Given the description of an element on the screen output the (x, y) to click on. 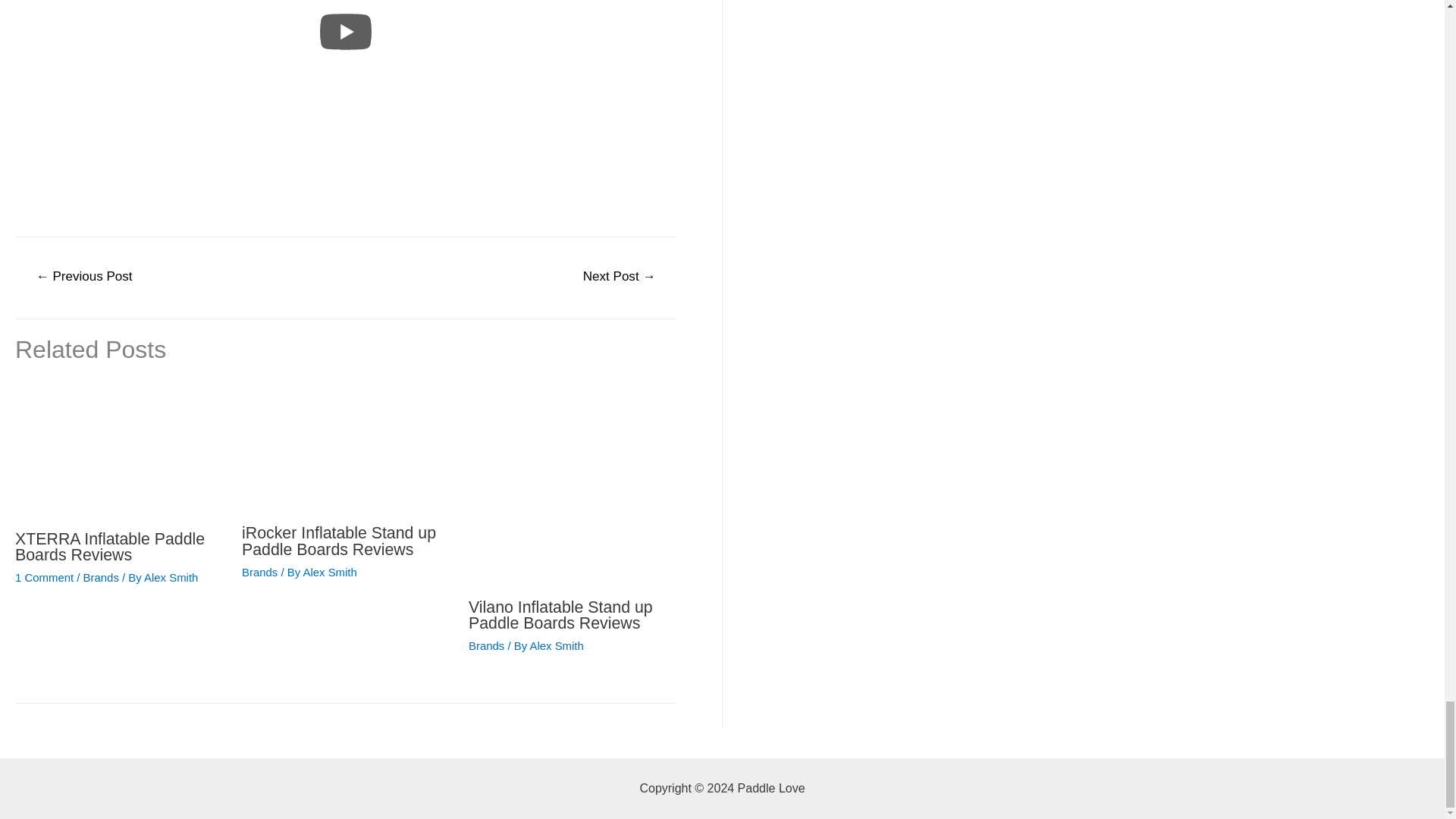
View all posts by Alex Smith (329, 571)
View all posts by Alex Smith (556, 645)
View all posts by Alex Smith (171, 576)
